Given the description of an element on the screen output the (x, y) to click on. 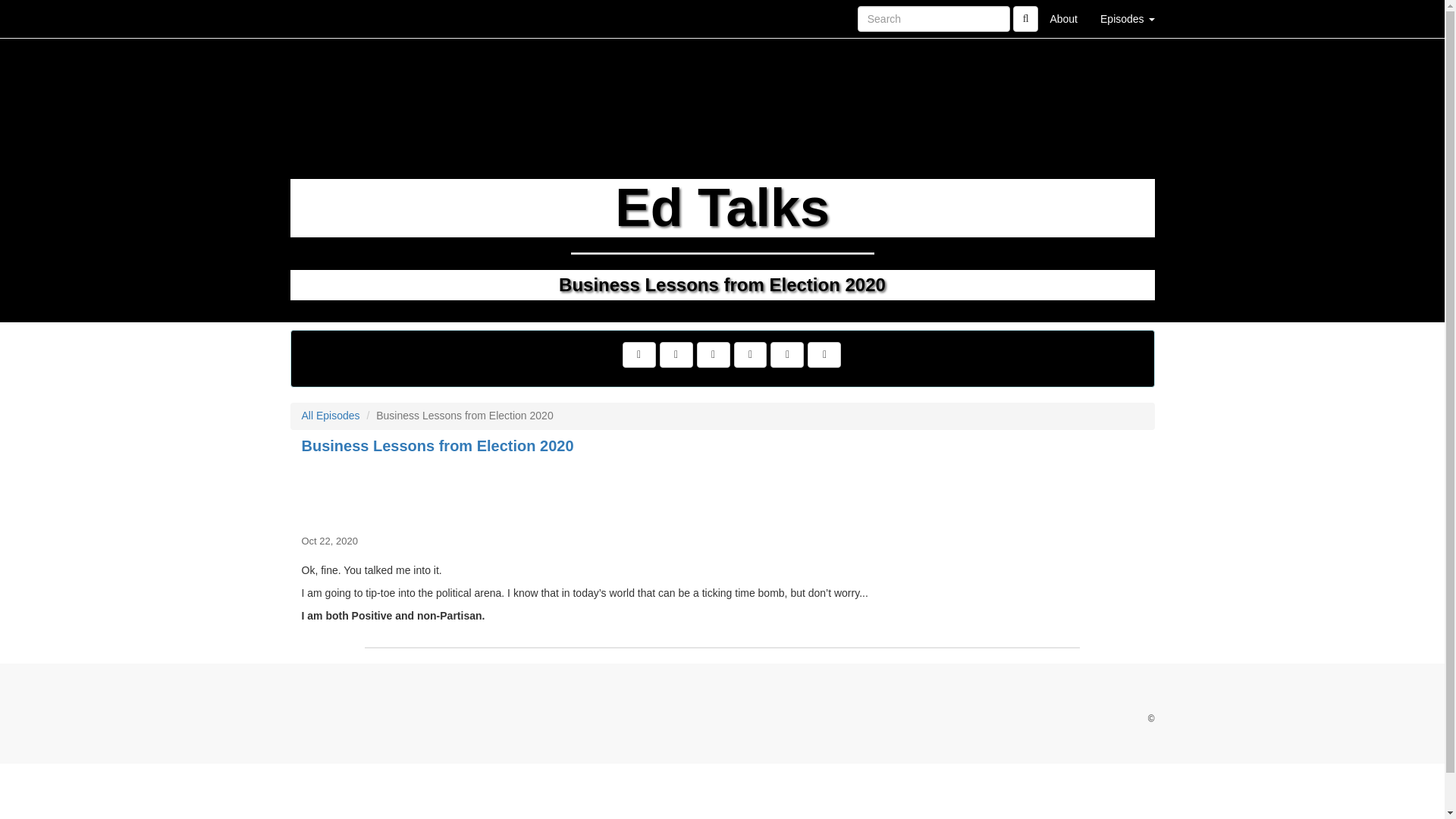
Episodes (1127, 18)
Business Lessons from Election 2020 (721, 491)
Home Page (320, 18)
All Episodes (330, 415)
About (1063, 18)
